Given the description of an element on the screen output the (x, y) to click on. 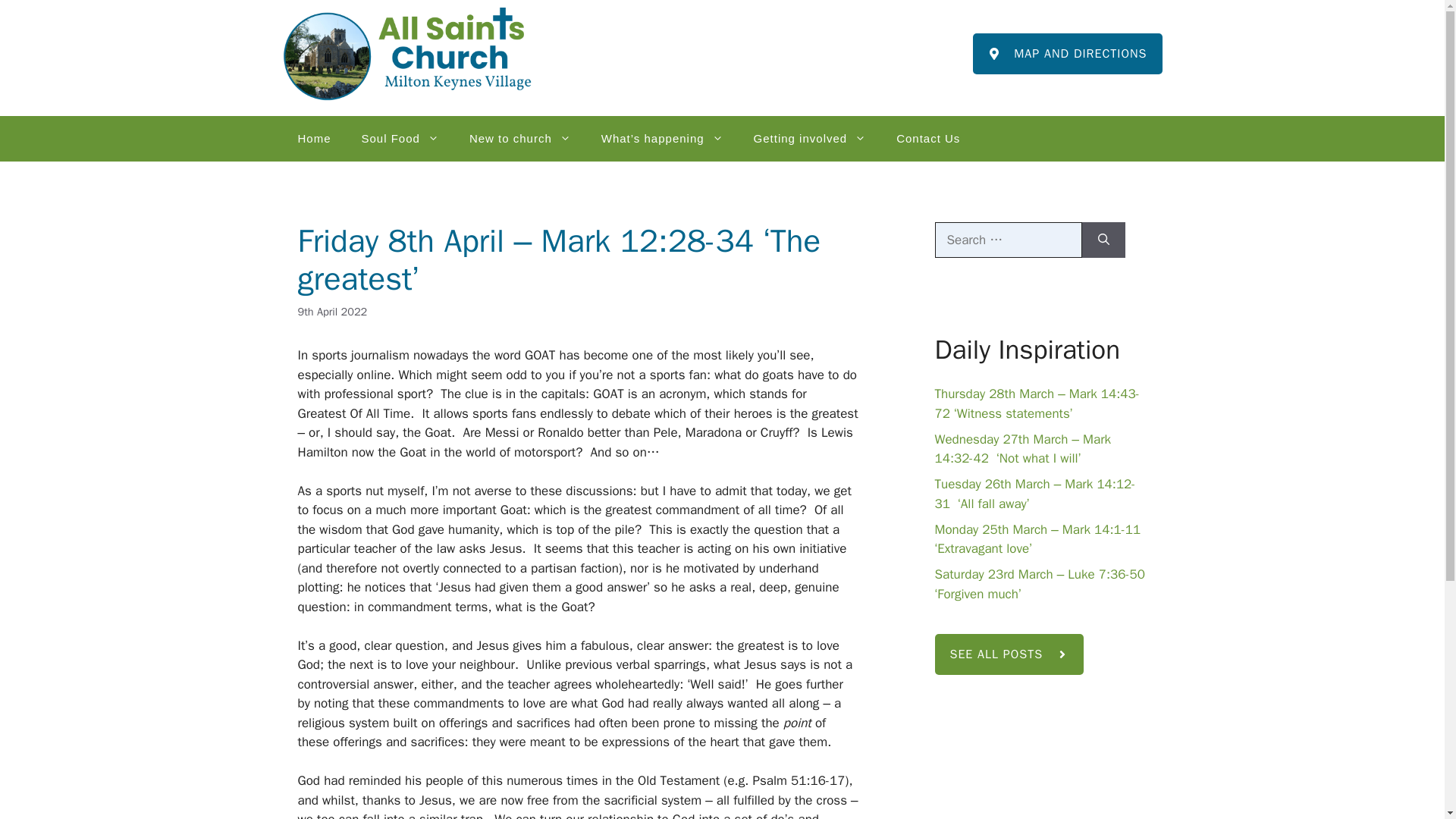
Contact Us (927, 138)
Getting involved (810, 138)
Search for: (1007, 239)
Soul Food (400, 138)
MAP AND DIRECTIONS (1066, 53)
New to church (520, 138)
Home (314, 138)
